Given the description of an element on the screen output the (x, y) to click on. 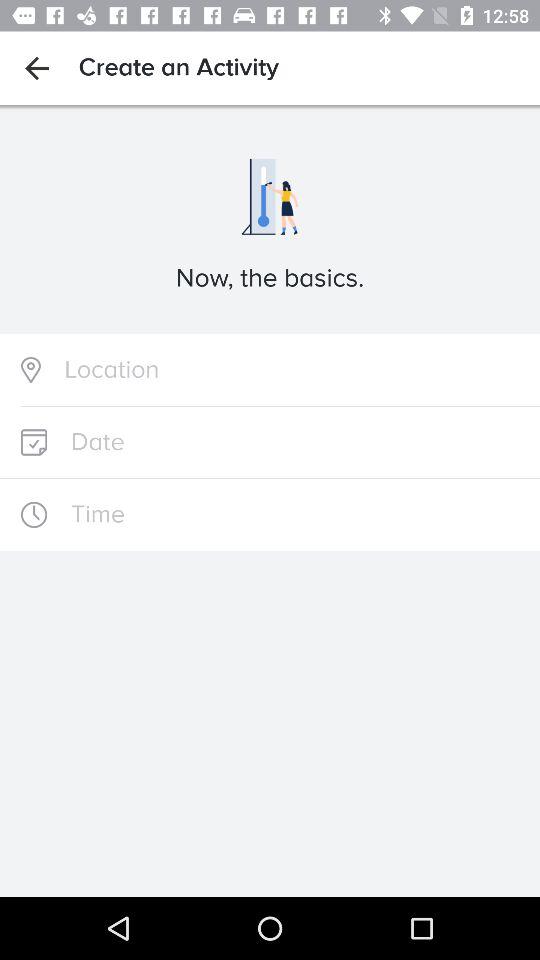
add location text bar (270, 370)
